Given the description of an element on the screen output the (x, y) to click on. 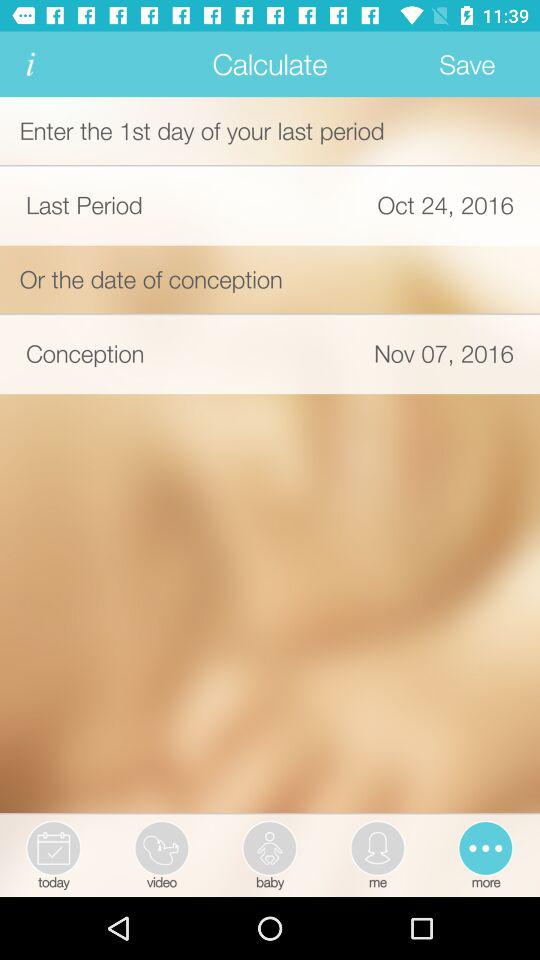
information (30, 63)
